Given the description of an element on the screen output the (x, y) to click on. 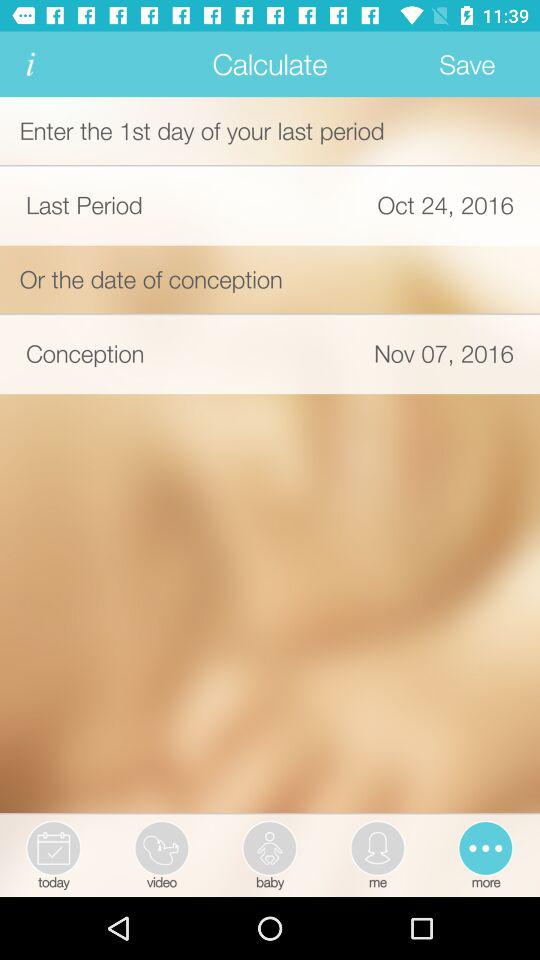
information (30, 63)
